Given the description of an element on the screen output the (x, y) to click on. 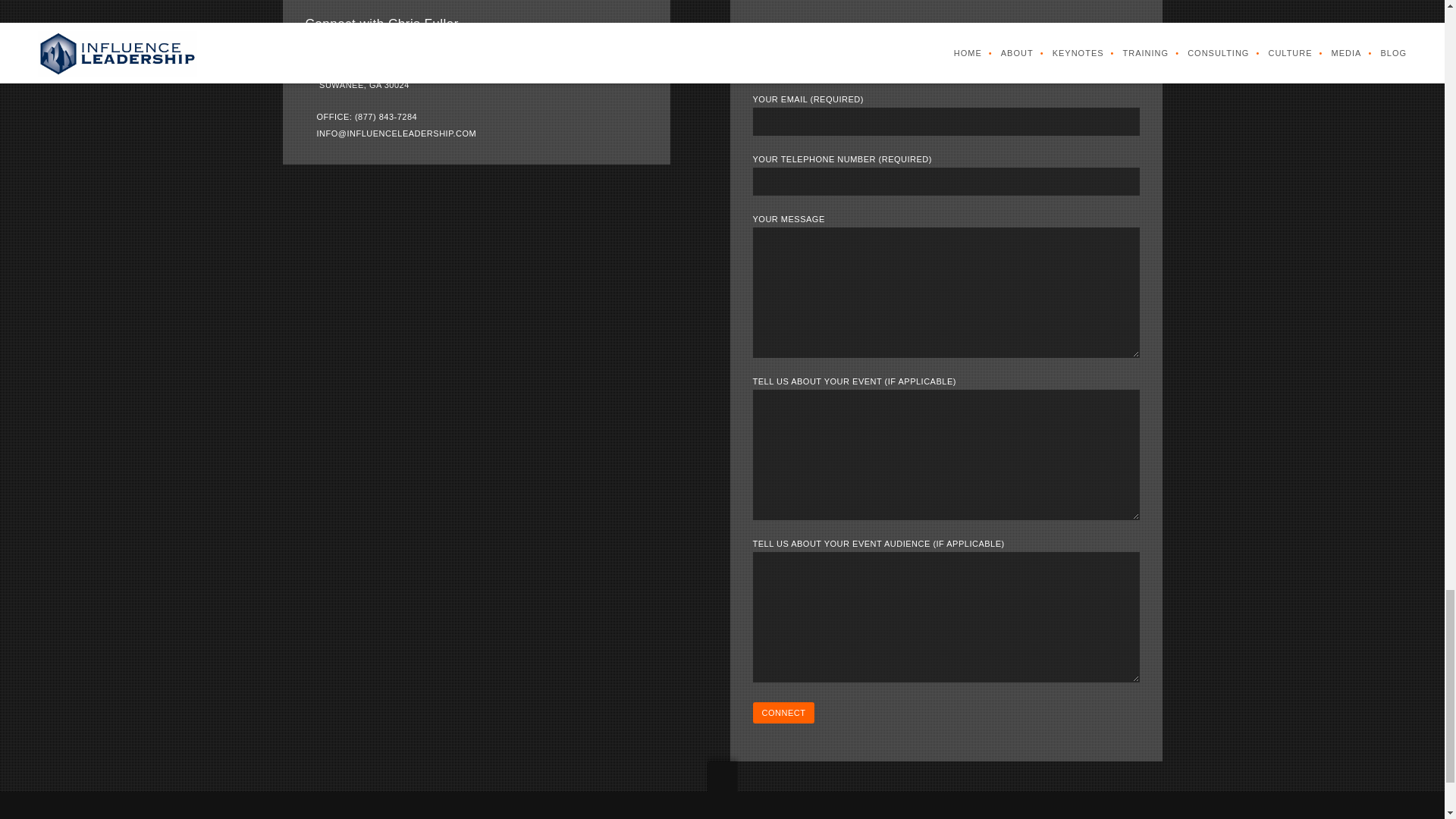
Connect (782, 712)
